Given the description of an element on the screen output the (x, y) to click on. 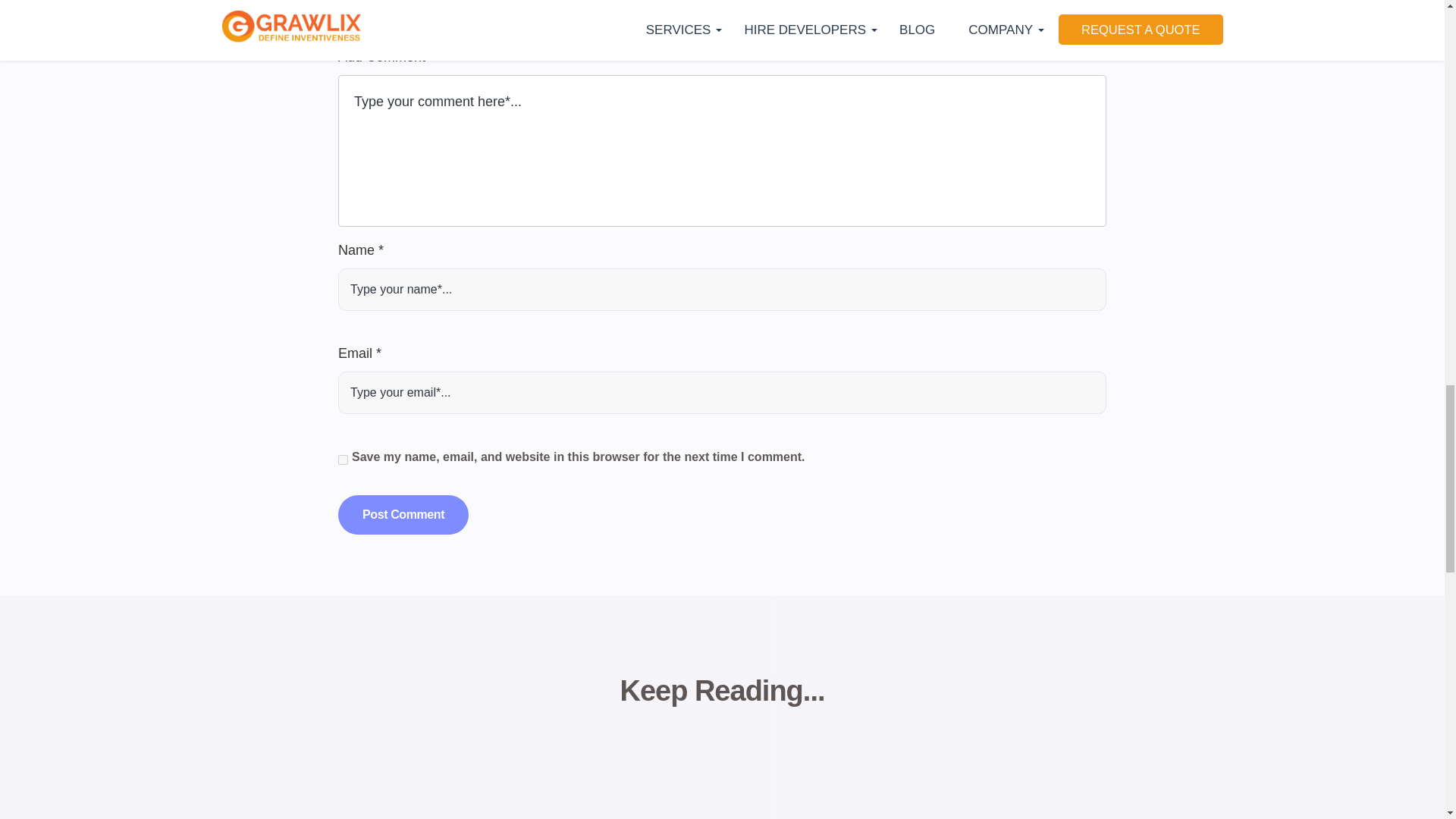
Post Comment (402, 514)
yes (342, 460)
